Given the description of an element on the screen output the (x, y) to click on. 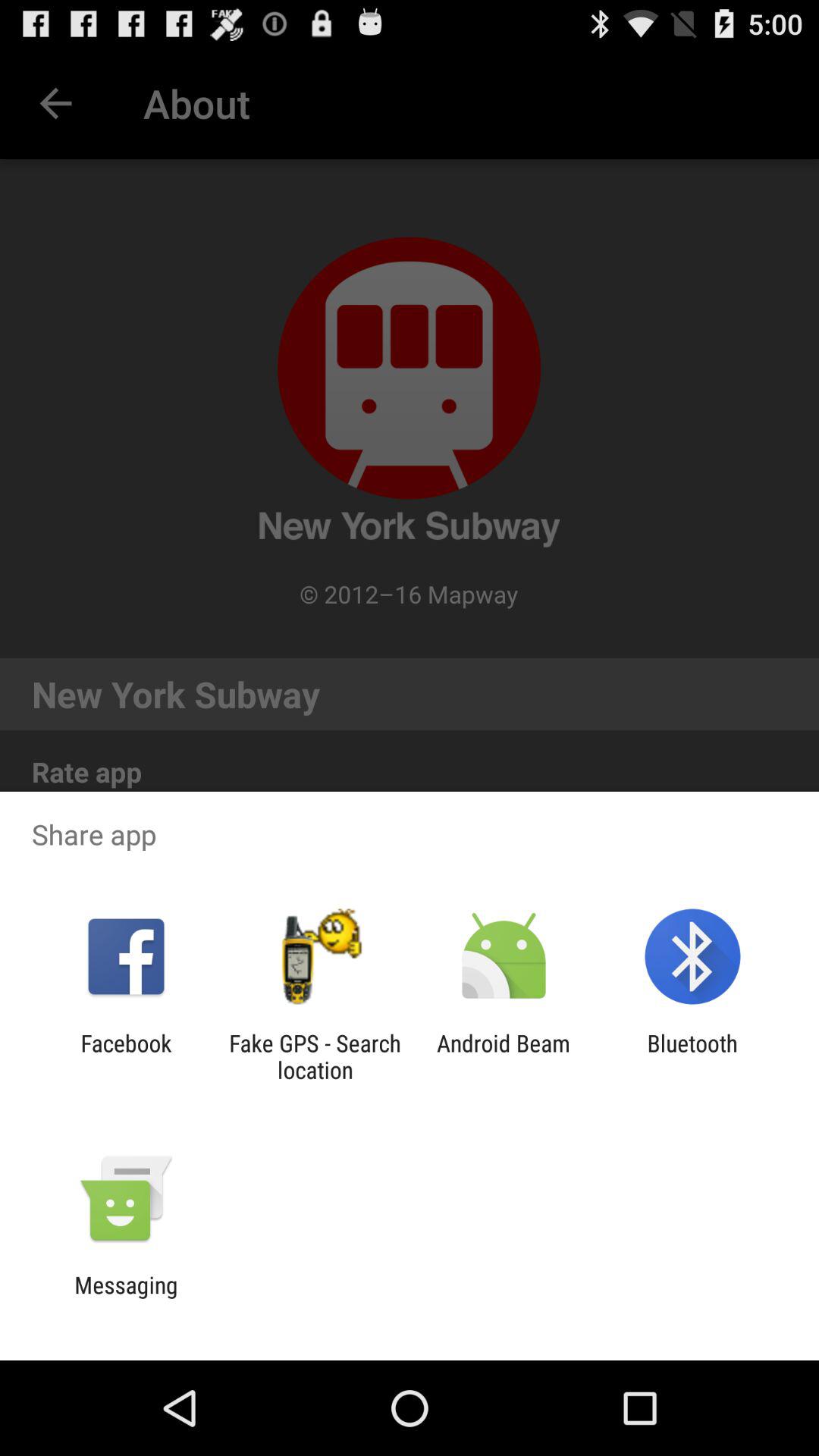
open item to the left of the fake gps search (125, 1056)
